Given the description of an element on the screen output the (x, y) to click on. 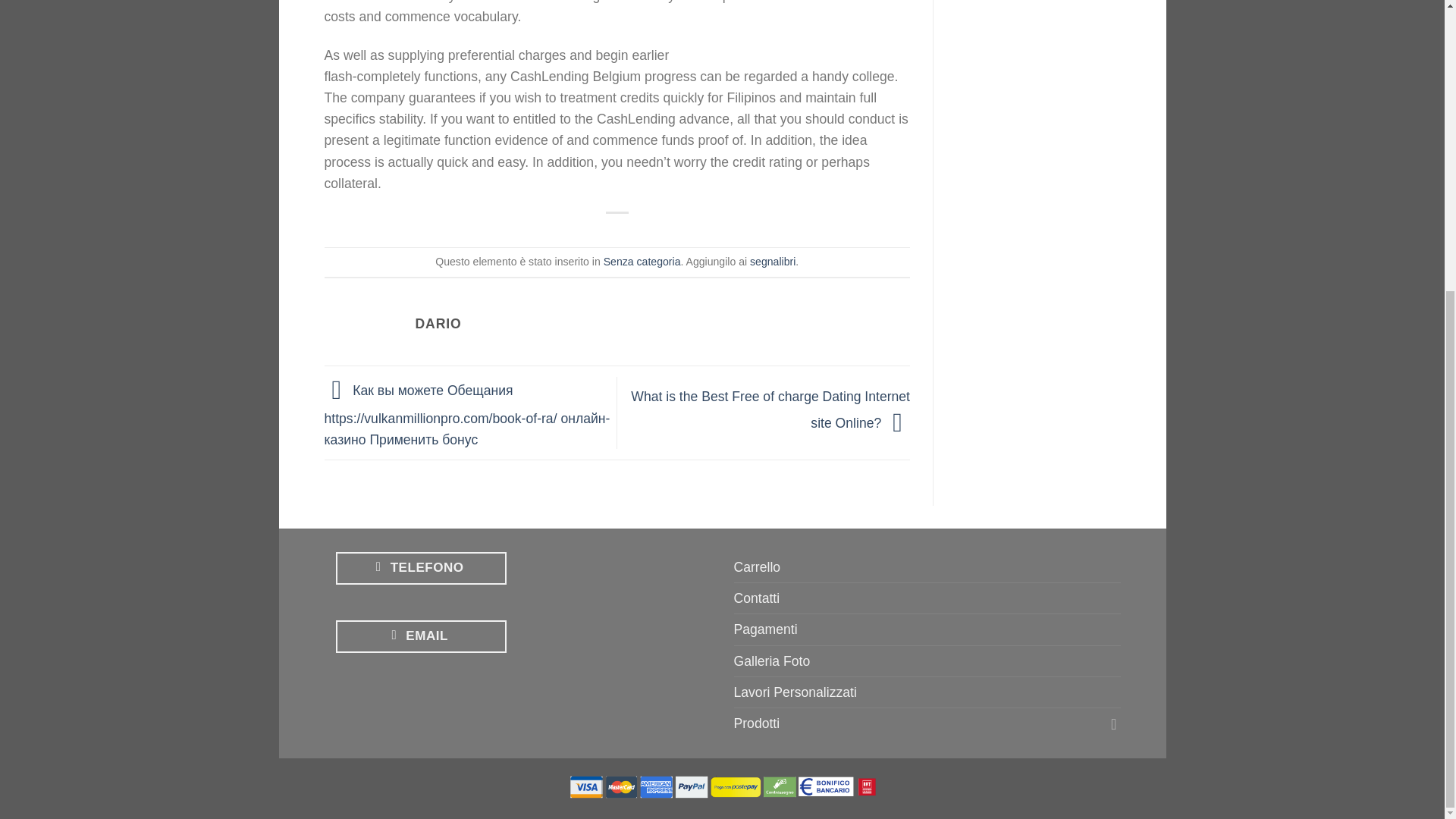
segnalibri (771, 261)
EMAIL (419, 635)
Contatti (756, 598)
TELEFONO (419, 568)
Senza categoria (642, 261)
Carrello (756, 567)
